Given the description of an element on the screen output the (x, y) to click on. 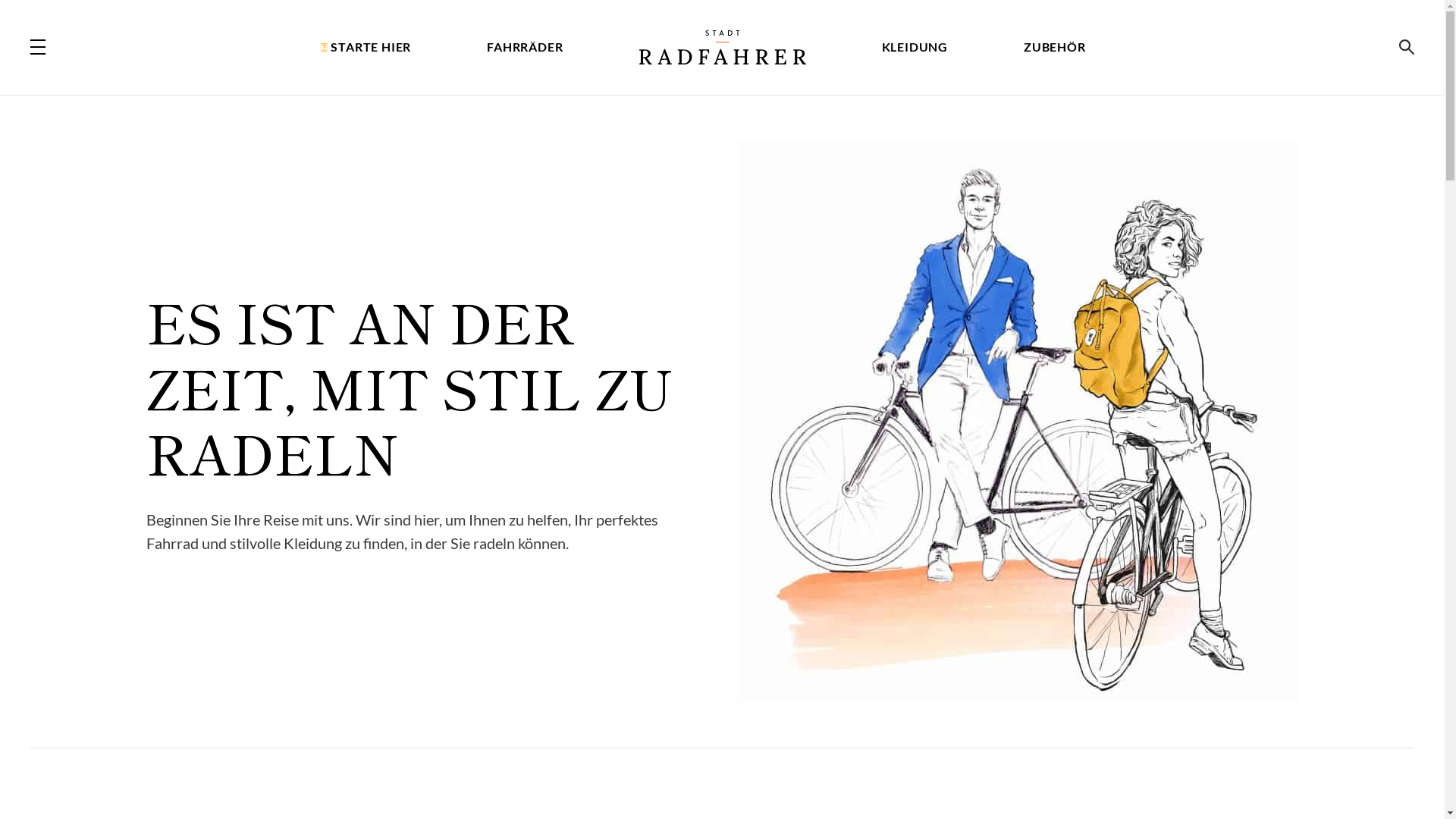
KLEIDUNG Element type: text (914, 46)
